Given the description of an element on the screen output the (x, y) to click on. 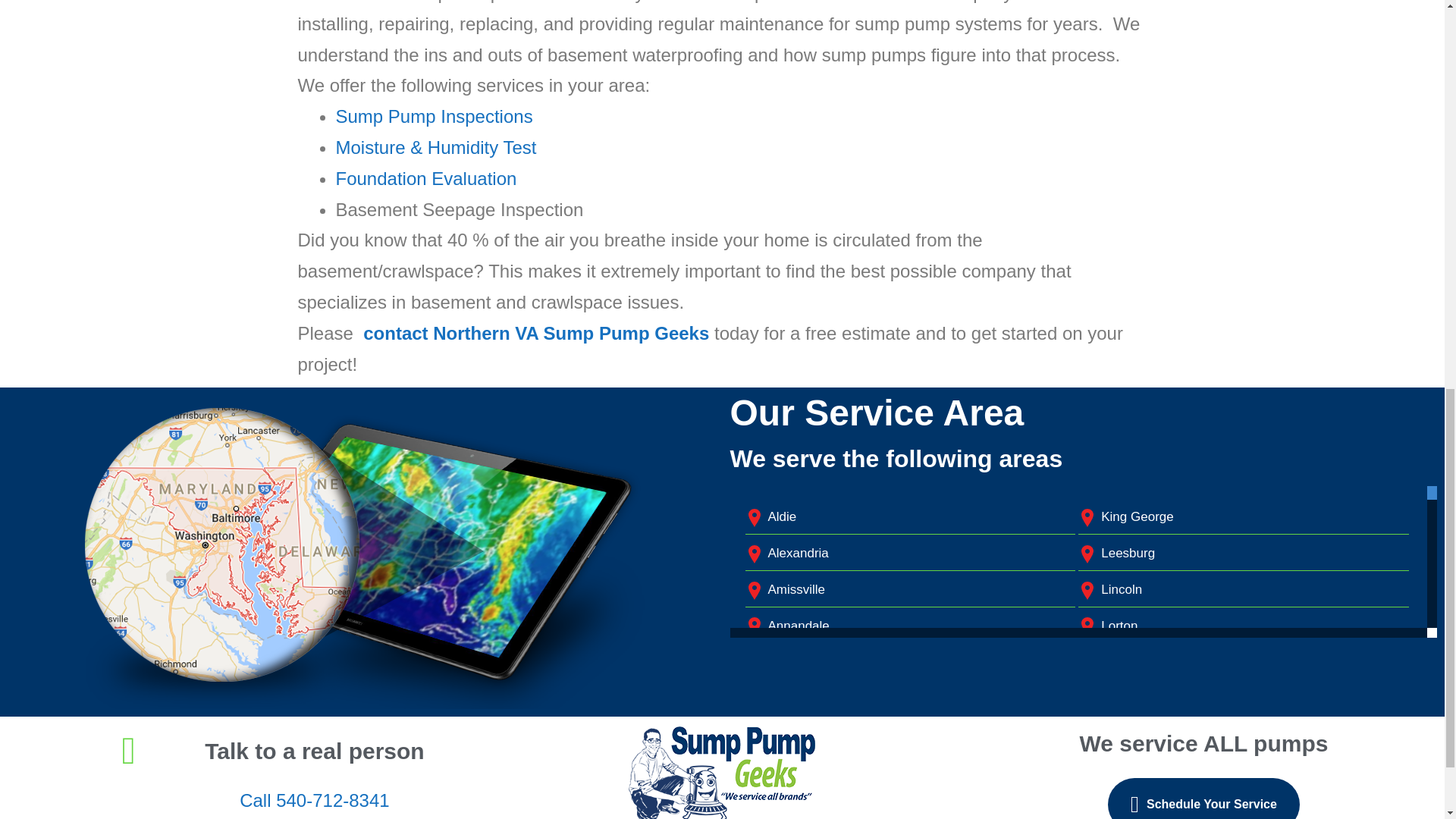
Amissville (796, 589)
Alexandria (797, 553)
contact Northern VA Sump Pump Geeks (535, 332)
Foundation Evaluation (425, 178)
Aldie (781, 516)
Sump Pump Inspections (433, 116)
